Given the description of an element on the screen output the (x, y) to click on. 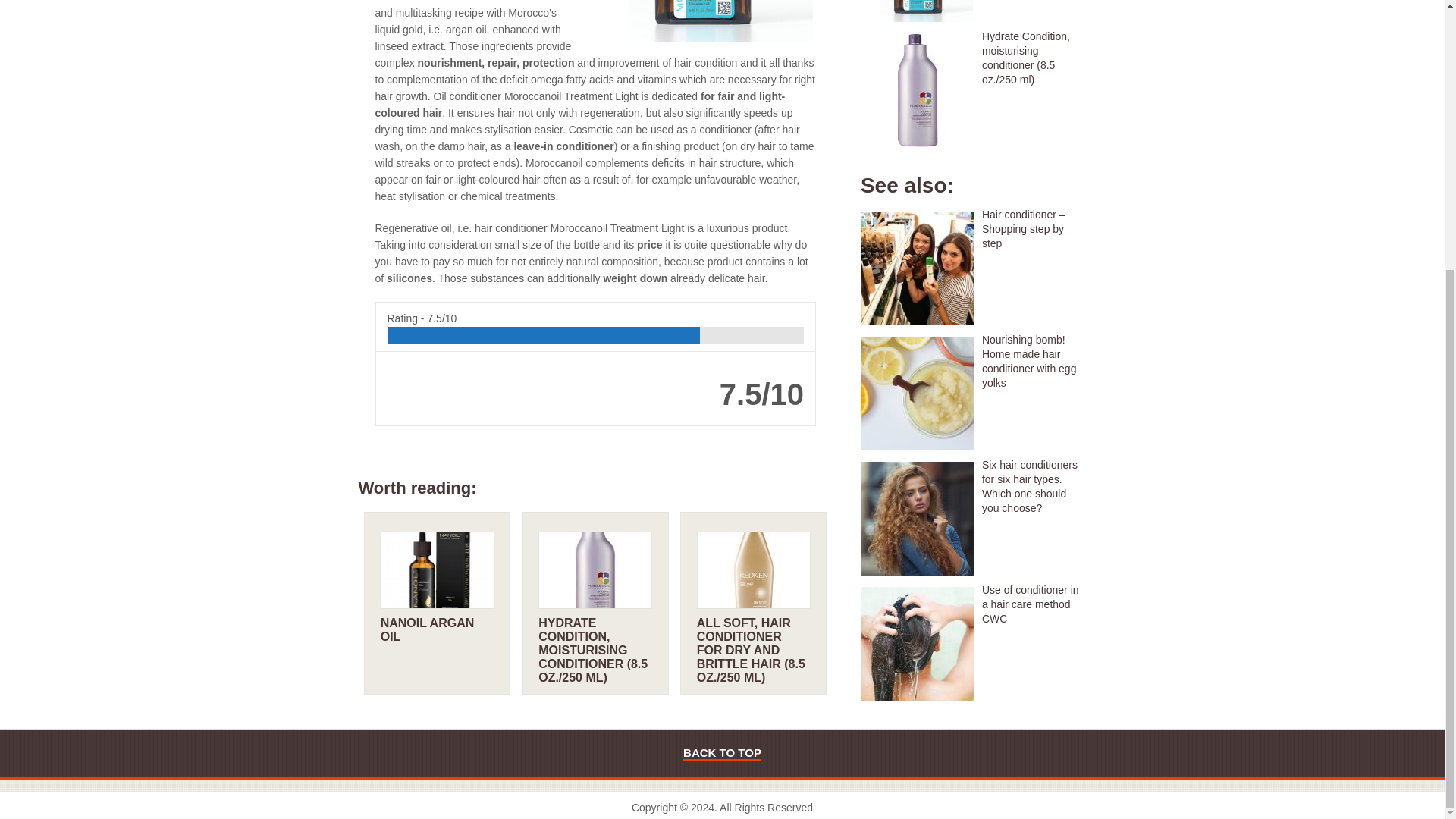
Nanoil Argan Oil (427, 629)
BACK TO TOP (721, 753)
Nourishing bomb! Home made hair conditioner with egg yolks (973, 361)
NANOIL ARGAN OIL (427, 629)
Use of conditioner in a hair care method CWC (973, 604)
